Given the description of an element on the screen output the (x, y) to click on. 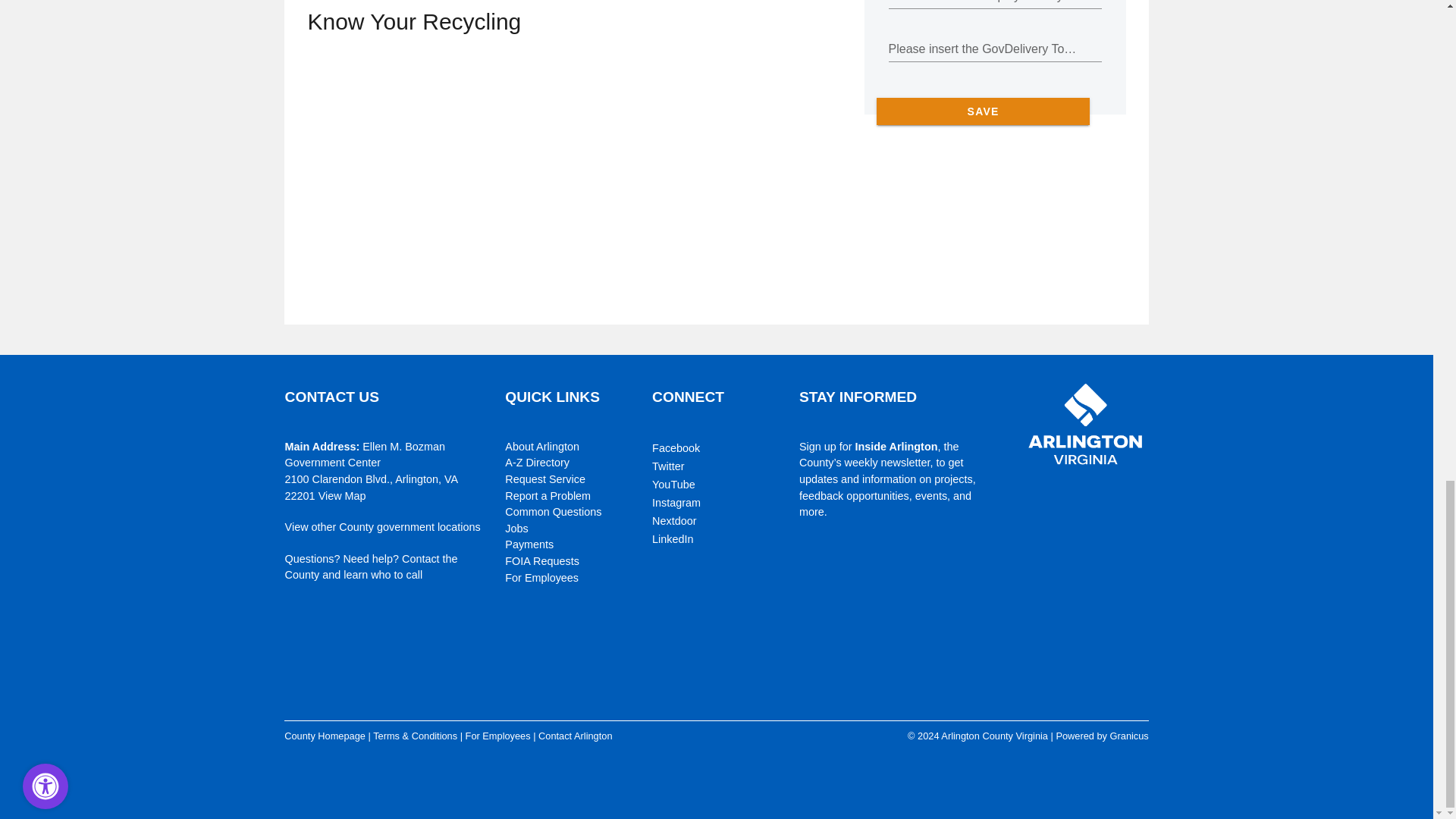
YouTube video player (519, 165)
Arlington County Logo (1086, 424)
